Given the description of an element on the screen output the (x, y) to click on. 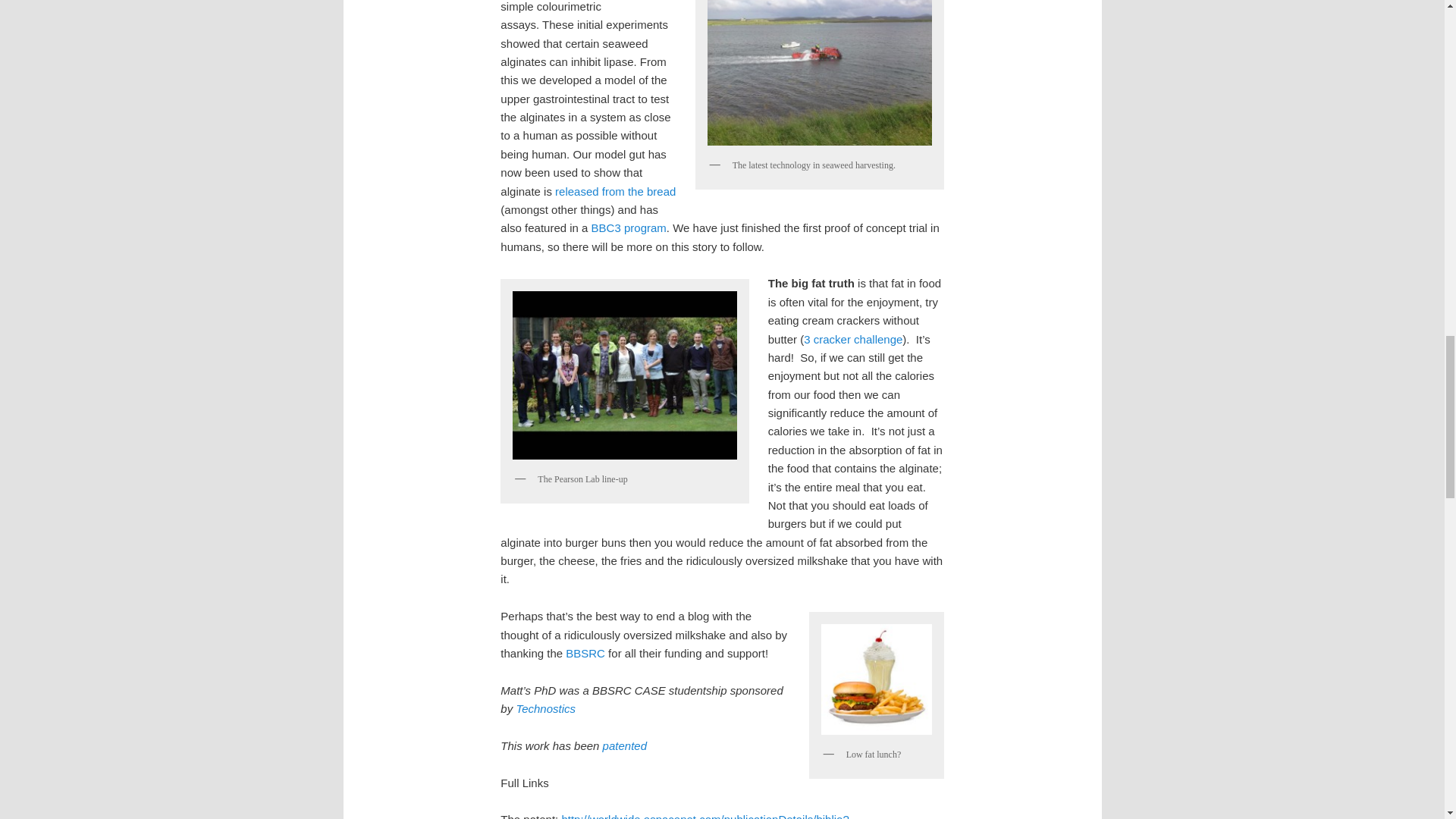
3 cracker challenge (852, 338)
BBC3 program (628, 227)
patented (624, 745)
released from the bread (614, 191)
BBSRC (585, 653)
Technostics (545, 707)
